Given the description of an element on the screen output the (x, y) to click on. 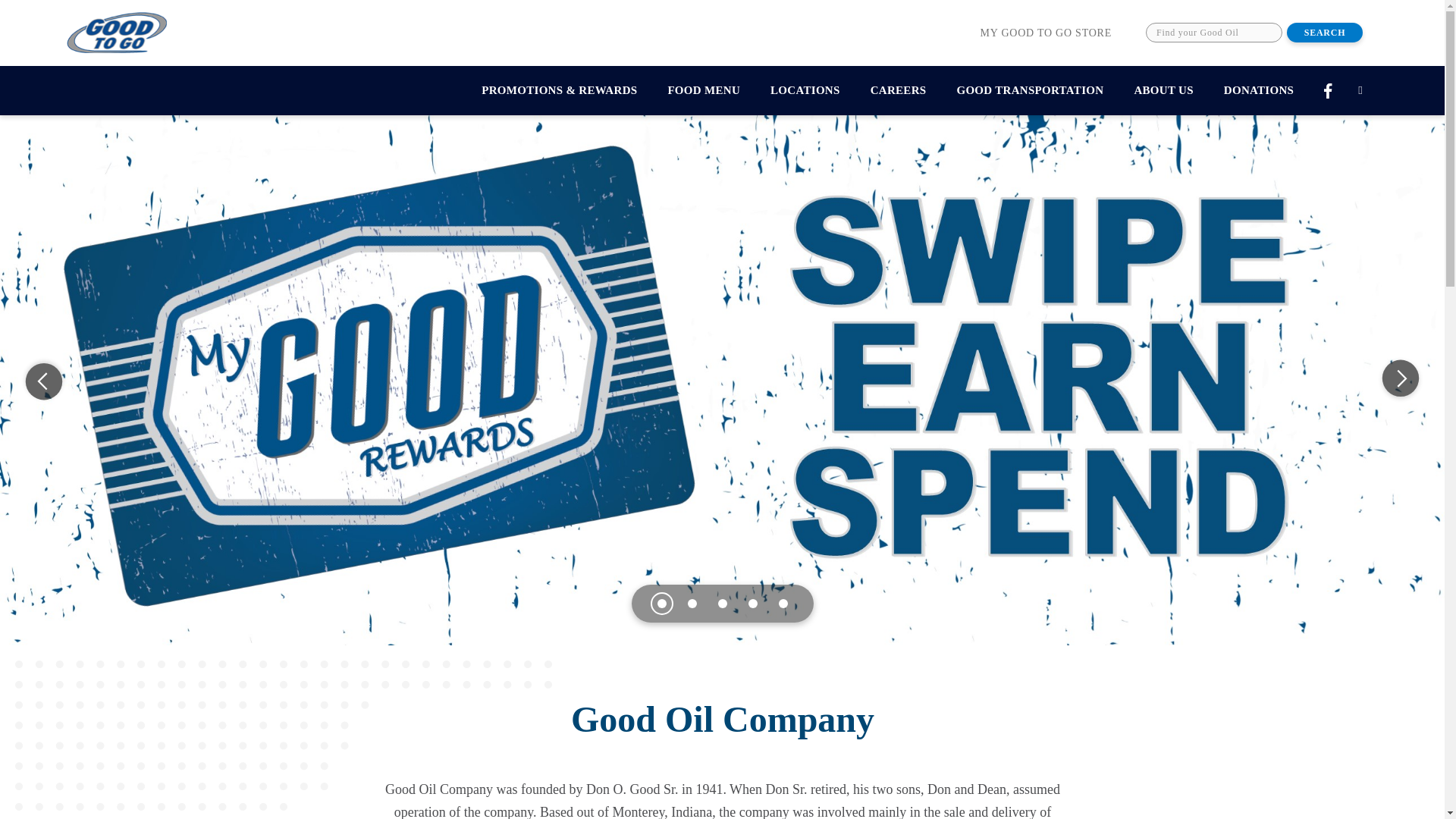
CAREERS (899, 90)
1 (661, 603)
FOOD MENU (703, 90)
LOCATIONS (805, 90)
MY GOOD TO GO STORE (1045, 32)
4 (752, 603)
Next (1400, 379)
2 (692, 603)
5 (782, 603)
SEARCH (1324, 32)
ABOUT US (1163, 90)
GOOD TRANSPORTATION (1029, 90)
Prev (43, 379)
3 (722, 603)
DONATIONS (1258, 90)
